Given the description of an element on the screen output the (x, y) to click on. 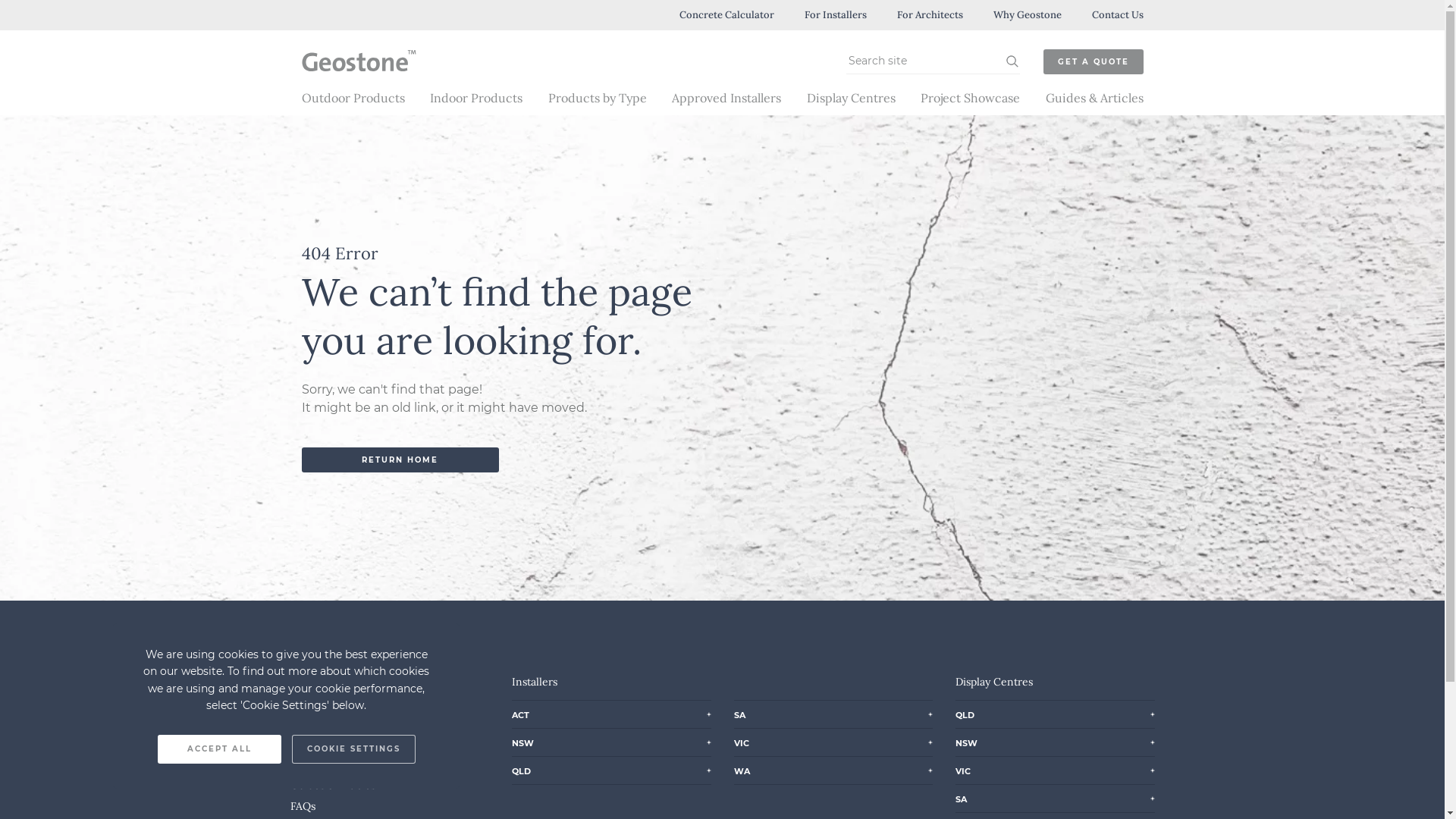
VIC Element type: text (741, 740)
SA Element type: text (739, 712)
QLD Element type: text (520, 768)
Approved Installers Element type: text (726, 97)
For Architects Element type: text (929, 14)
SA Element type: text (960, 796)
Guides & Articles Element type: text (1093, 97)
Why Geostone Element type: text (1027, 14)
For Installers Element type: text (834, 14)
COOKIE SETTINGS Element type: text (352, 748)
RETURN HOME Element type: text (399, 459)
Outdoor Products Element type: text (352, 97)
VIC Element type: text (962, 768)
NSW Element type: text (522, 740)
ACT Element type: text (520, 712)
Project Showcase Element type: text (969, 97)
Products by Type Element type: text (596, 97)
Indoor Products Element type: text (475, 97)
NSW Element type: text (966, 740)
Display Centres Element type: text (328, 764)
Contact Us Element type: text (1117, 14)
FAQs Element type: text (301, 805)
Get a Quote Element type: text (319, 722)
WA Element type: text (741, 768)
Guides & Articles Element type: text (331, 784)
ACCEPT ALL Element type: text (218, 748)
GET A QUOTE Element type: text (1093, 61)
Approved Installers Element type: text (337, 742)
QLD Element type: text (964, 712)
Display Centres Element type: text (850, 97)
Concrete Calculator Element type: text (726, 14)
Holcim Geostone Element type: text (349, 80)
Search Element type: text (1010, 61)
